Given the description of an element on the screen output the (x, y) to click on. 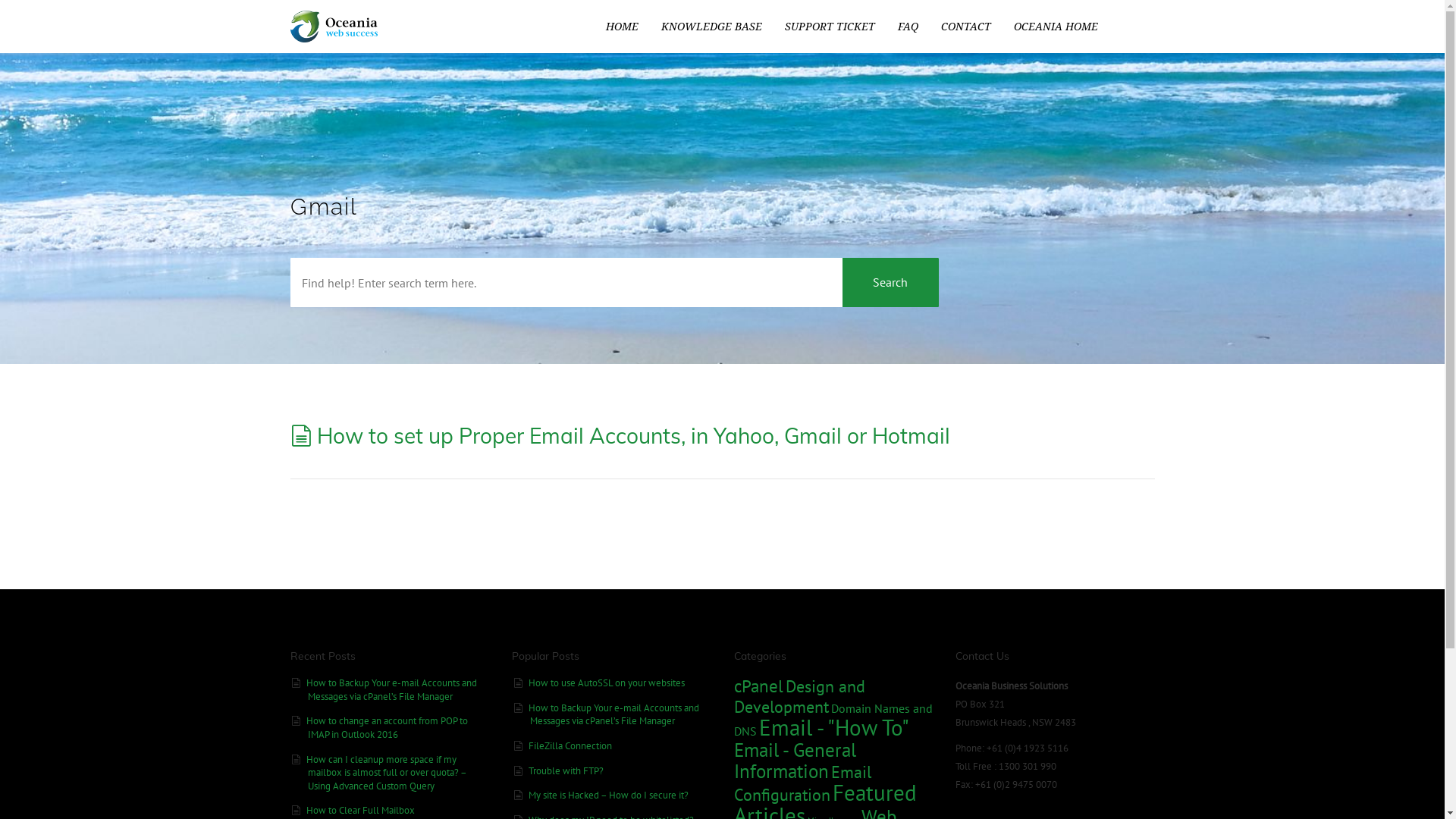
FAQ Element type: text (906, 26)
CONTACT Element type: text (965, 26)
HOME Element type: text (621, 26)
Design and Development Element type: text (799, 696)
cPanel Element type: text (758, 685)
How to change an account from POP to IMAP in Outlook 2016 Element type: text (386, 727)
Email - General Information Element type: text (795, 760)
Email - "How To" Element type: text (833, 726)
Search Element type: text (889, 282)
How to Clear Full Mailbox Element type: text (360, 809)
KNOWLEDGE BASE Element type: text (710, 26)
FileZilla Connection Element type: text (569, 745)
SUPPORT TICKET Element type: text (829, 26)
How to use AutoSSL on your websites Element type: text (606, 682)
Email Configuration Element type: text (802, 783)
Trouble with FTP? Element type: text (565, 770)
Domain Names and DNS Element type: text (833, 719)
OCEANIA HOME Element type: text (1055, 26)
